Given the description of an element on the screen output the (x, y) to click on. 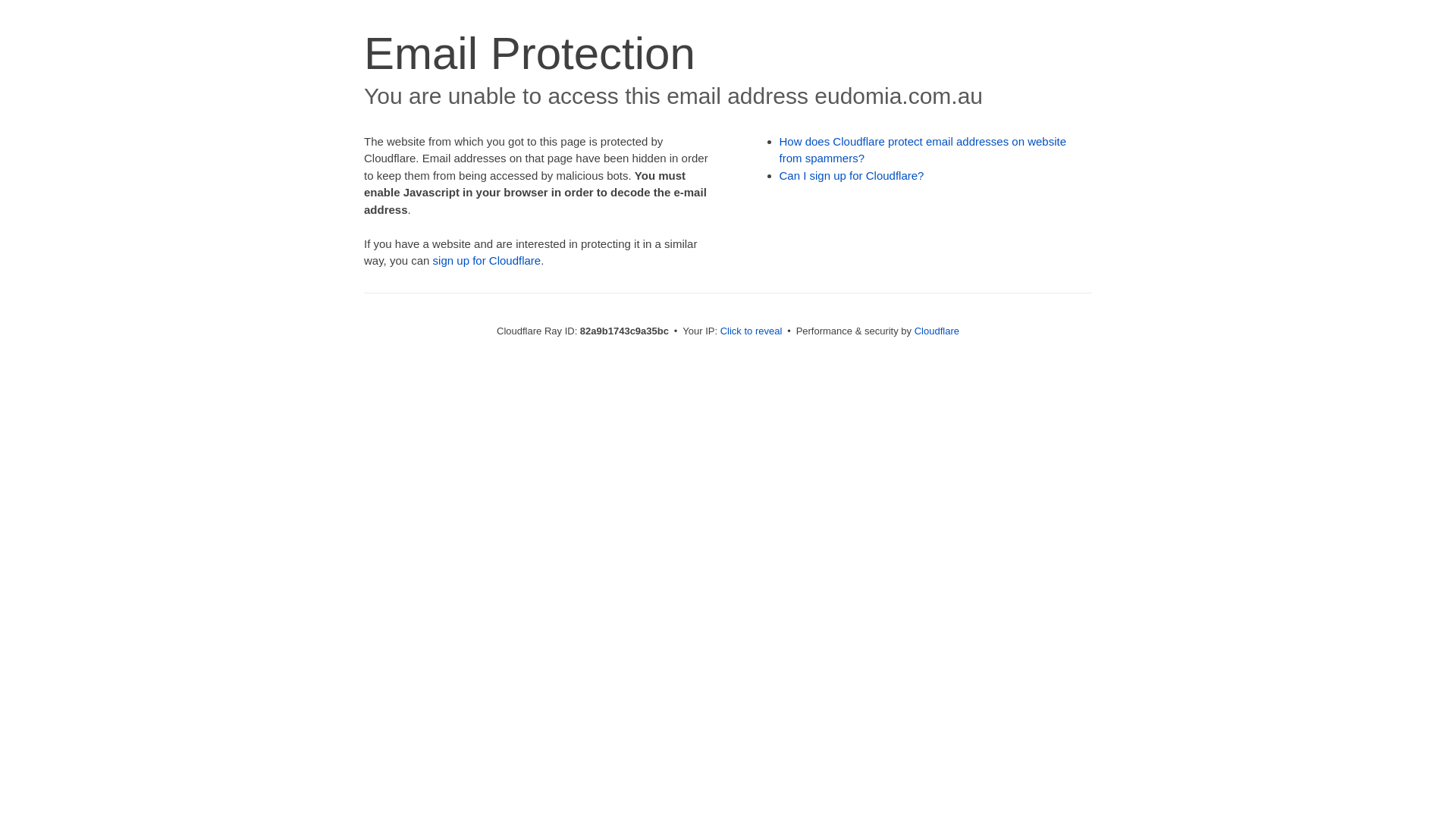
Click to reveal Element type: text (751, 330)
sign up for Cloudflare Element type: text (487, 260)
Cloudflare Element type: text (936, 330)
Can I sign up for Cloudflare? Element type: text (851, 175)
